Given the description of an element on the screen output the (x, y) to click on. 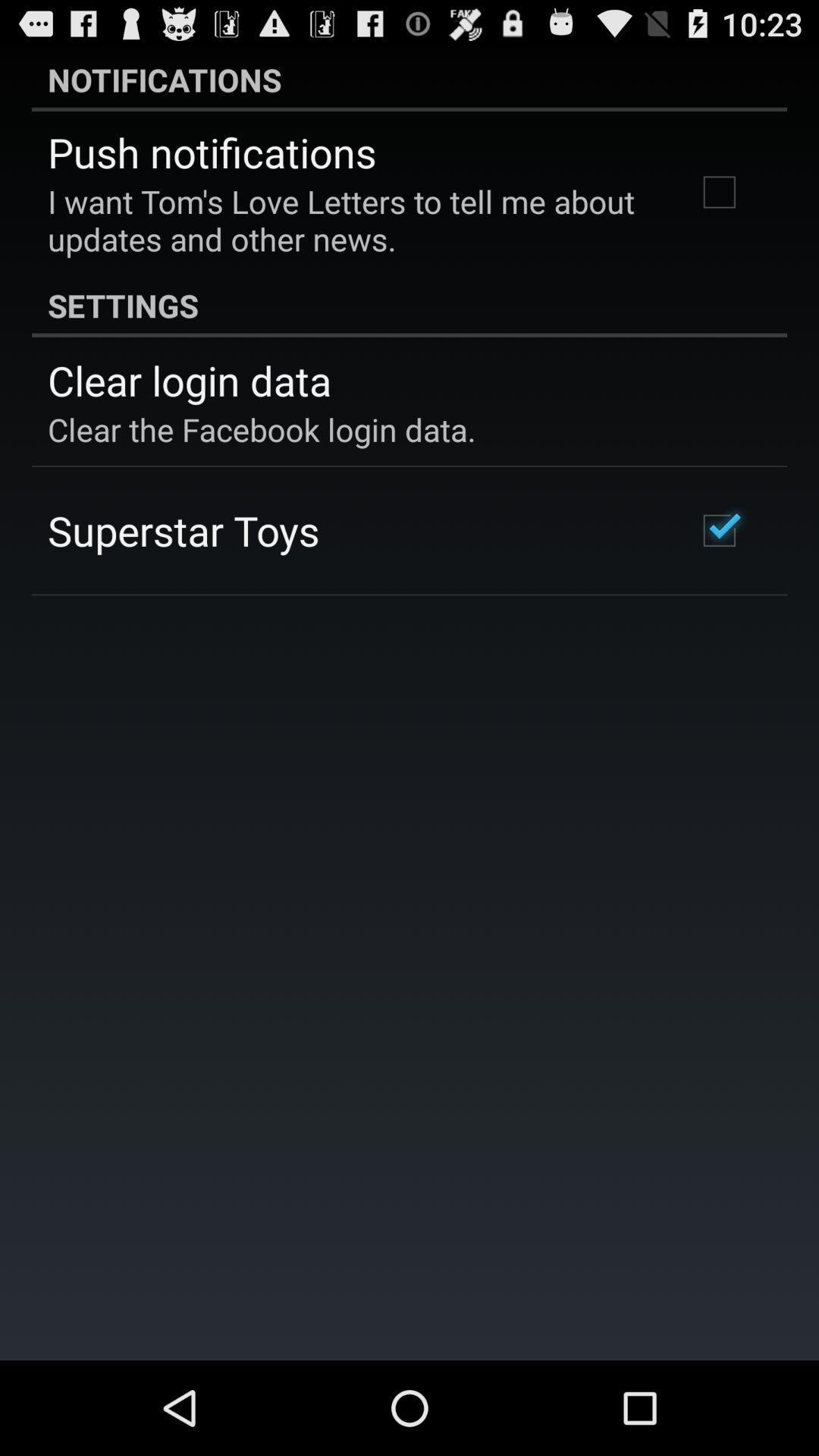
select the superstar toys on the left (183, 529)
